Given the description of an element on the screen output the (x, y) to click on. 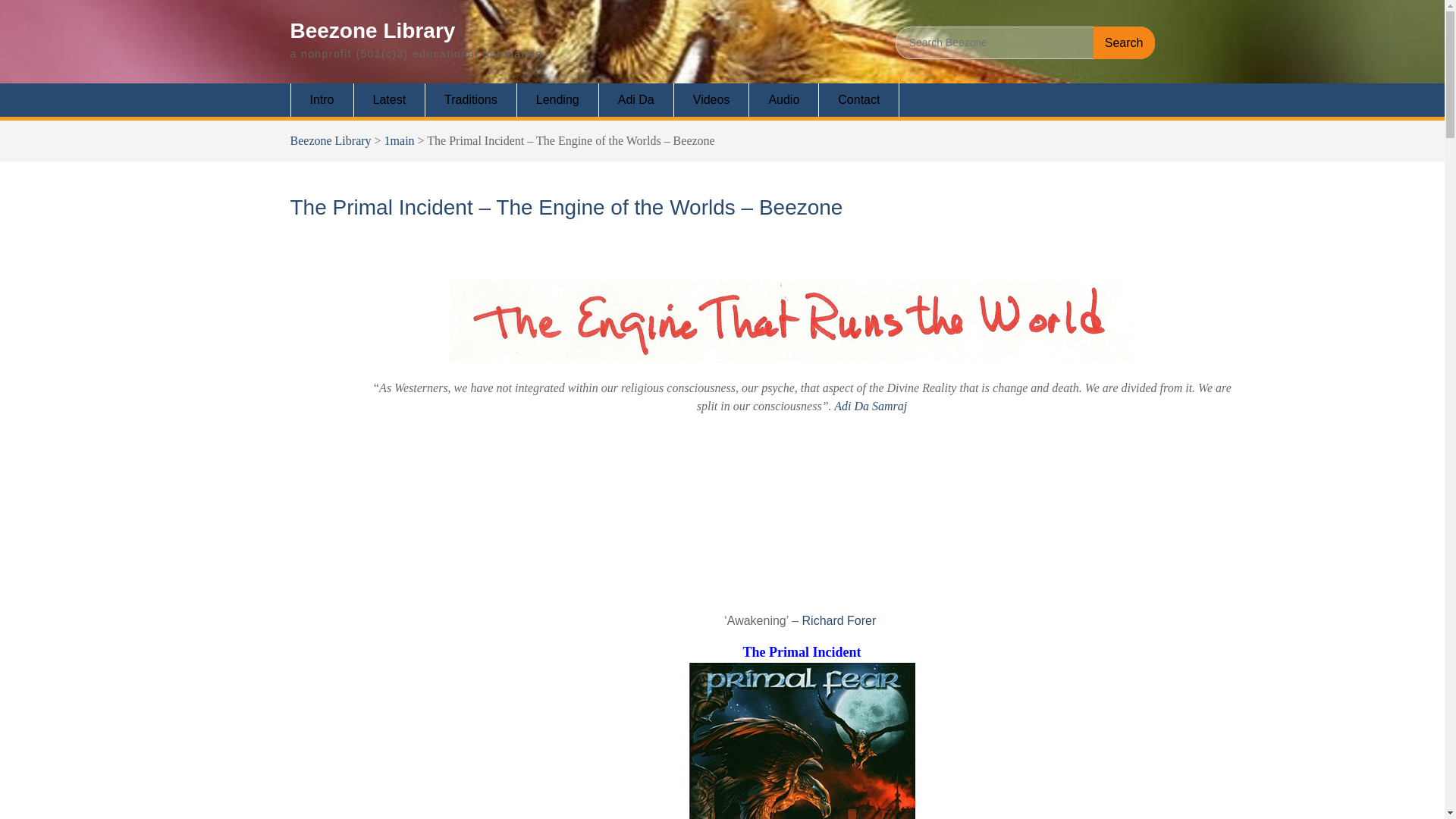
Beezone Library (371, 30)
Search for: (1024, 42)
Lending (557, 100)
Videos (711, 100)
Contact (858, 100)
Adi Da (636, 100)
Adi Da Samraj (870, 405)
Traditions (470, 100)
Intro (321, 100)
Richard Forer (839, 620)
Latest (389, 100)
Beezone Library (330, 140)
Search (1123, 42)
Audio (783, 100)
1main (399, 140)
